Given the description of an element on the screen output the (x, y) to click on. 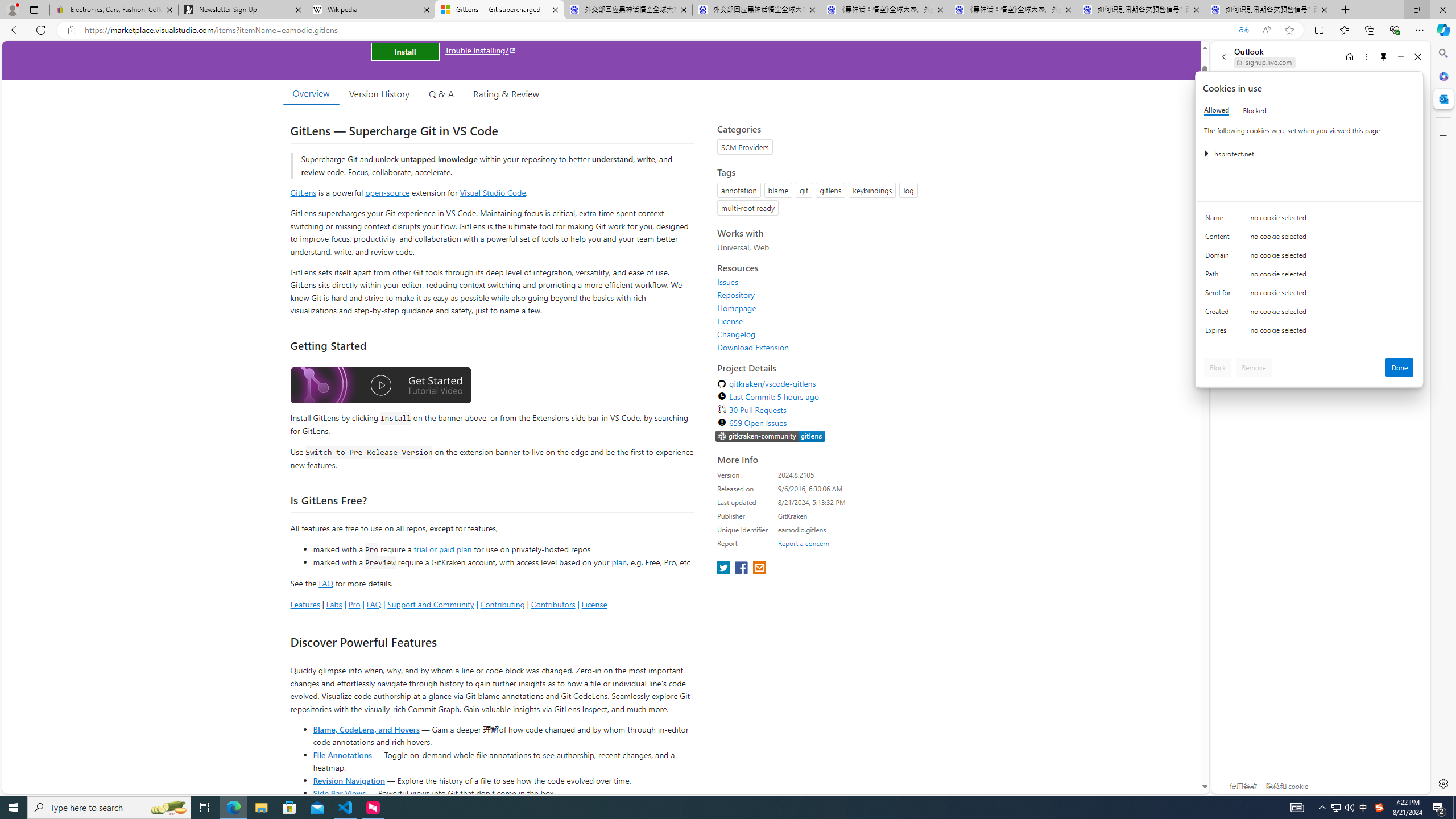
Content (1219, 239)
Created (1219, 313)
Class: c0153 c0157 (1309, 332)
Remove (1253, 367)
Send for (1219, 295)
Blocked (1255, 110)
Path (1219, 276)
Class: c0153 c0157 c0154 (1309, 220)
Done (1399, 367)
Name (1219, 220)
Allowed (1216, 110)
Block (1217, 367)
Domain (1219, 257)
Expires (1219, 332)
no cookie selected (1331, 332)
